Given the description of an element on the screen output the (x, y) to click on. 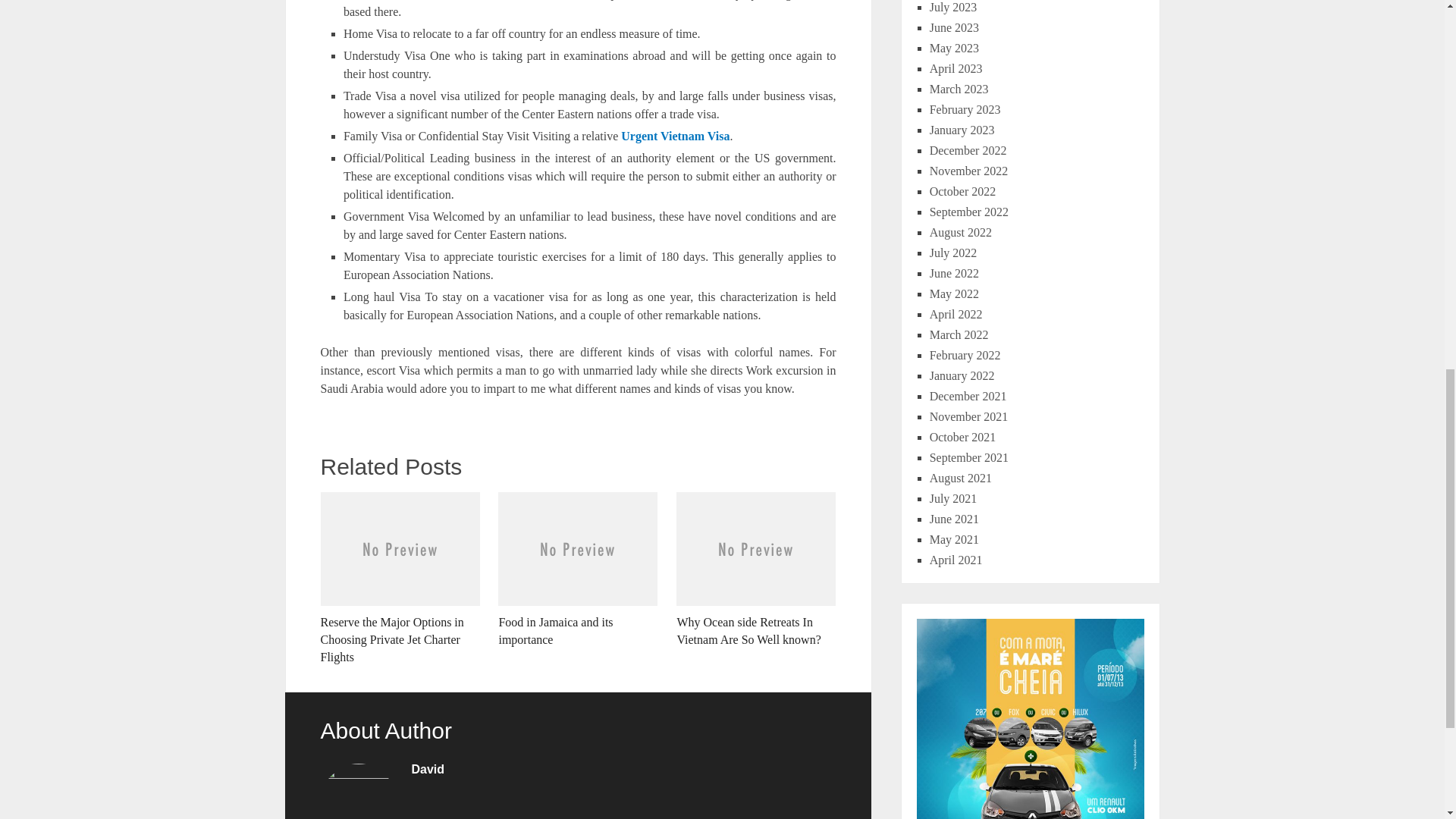
May 2023 (954, 47)
July 2023 (953, 6)
Why Ocean side Retreats In Vietnam Are So Well known? (756, 570)
Food in Jamaica and its importance (577, 570)
April 2023 (956, 68)
Food in Jamaica and its importance (577, 570)
June 2023 (954, 27)
Why Ocean side Retreats In Vietnam Are So Well known? (756, 570)
Urgent Vietnam Visa (675, 135)
